Given the description of an element on the screen output the (x, y) to click on. 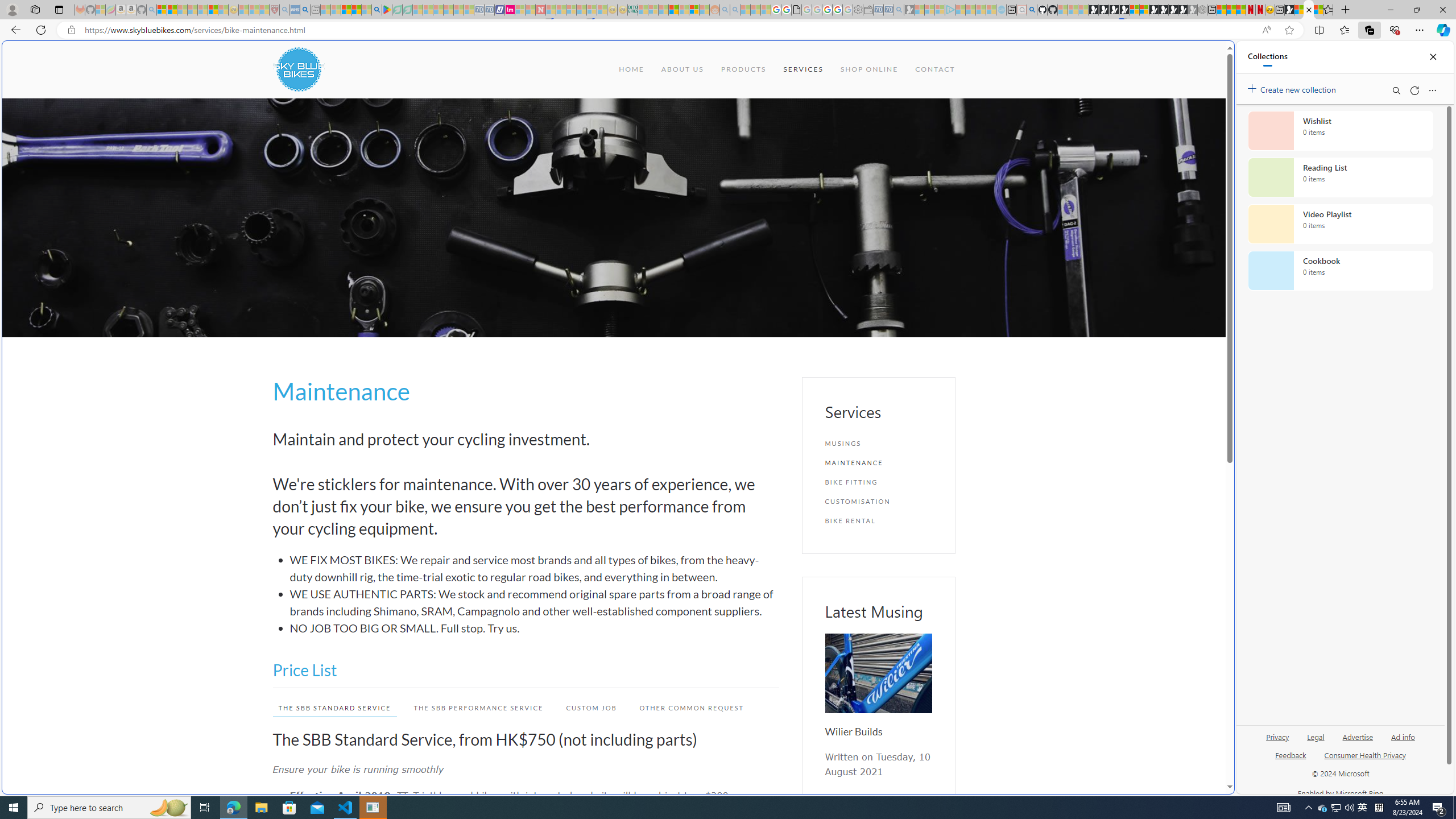
Wilier Builds (877, 673)
BIKE FITTING (878, 481)
